Given the description of an element on the screen output the (x, y) to click on. 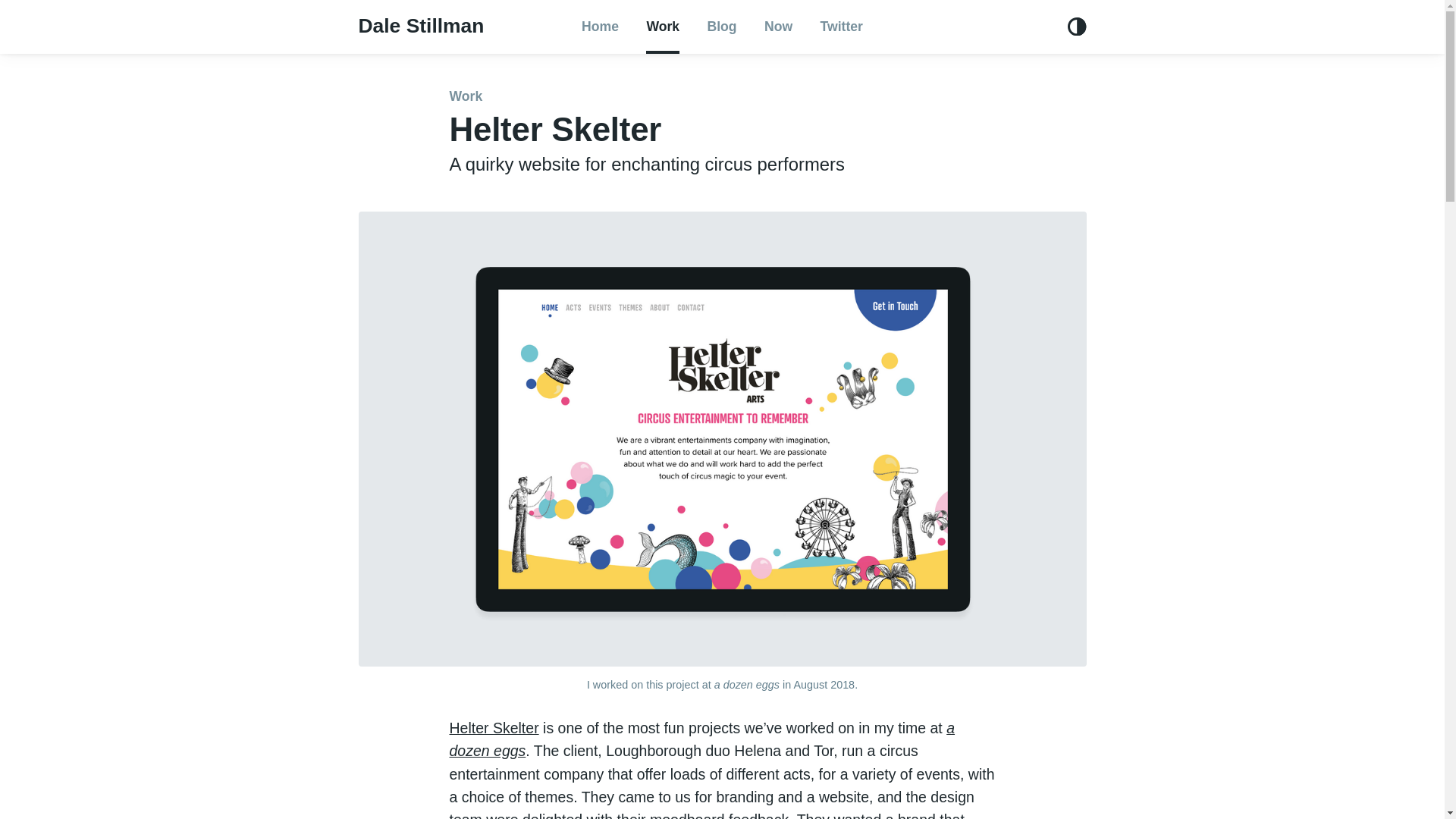
Helter Skelter (493, 727)
a dozen eggs (701, 739)
Blog (721, 26)
Now (778, 26)
Home (600, 26)
Twitter (840, 26)
Work (663, 26)
Dale Stillman (422, 26)
Work (464, 96)
